Given the description of an element on the screen output the (x, y) to click on. 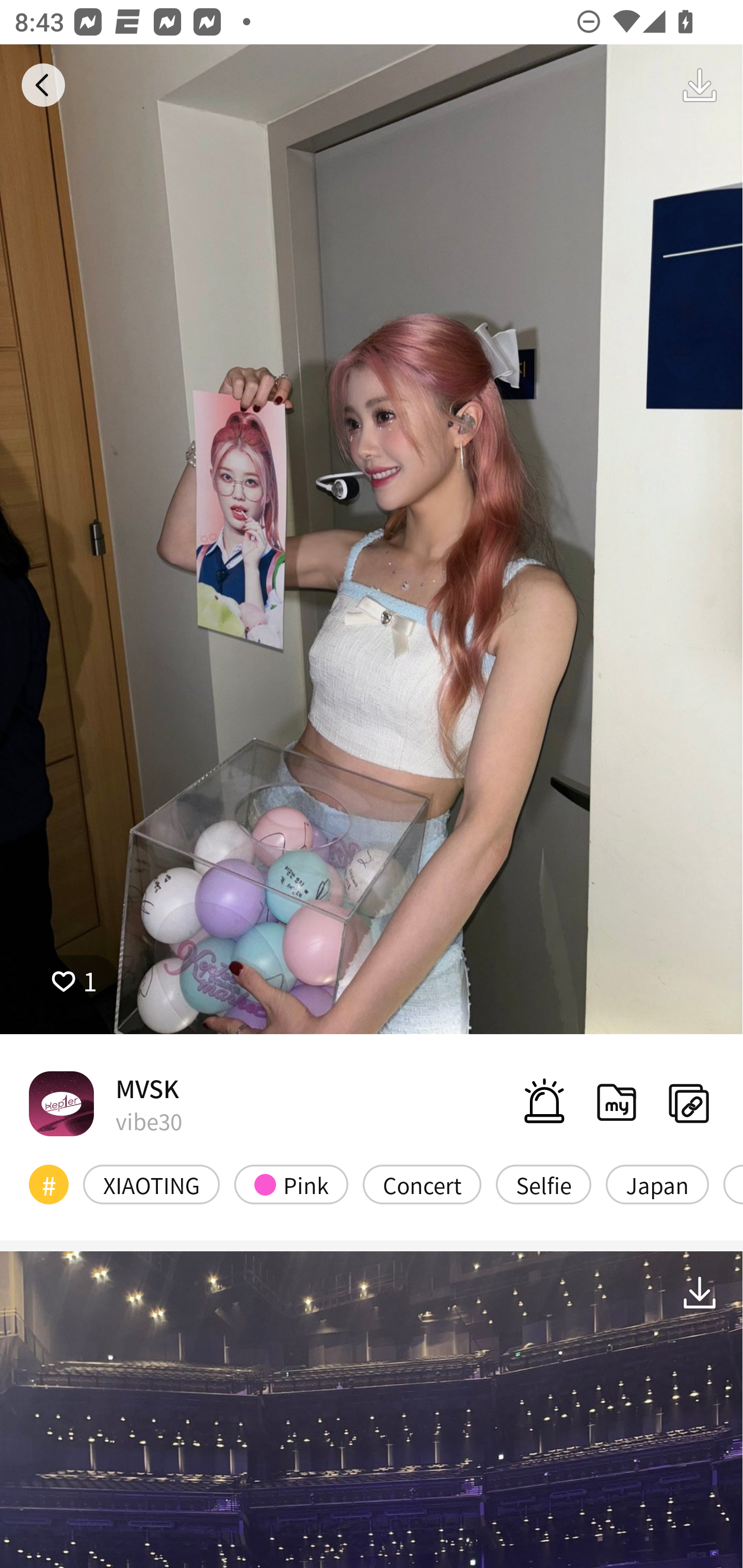
1 (73, 980)
MVSK vibe30 (105, 1102)
XIAOTING (151, 1184)
Pink (291, 1184)
Concert (421, 1184)
Selfie (543, 1184)
Japan (656, 1184)
